Given the description of an element on the screen output the (x, y) to click on. 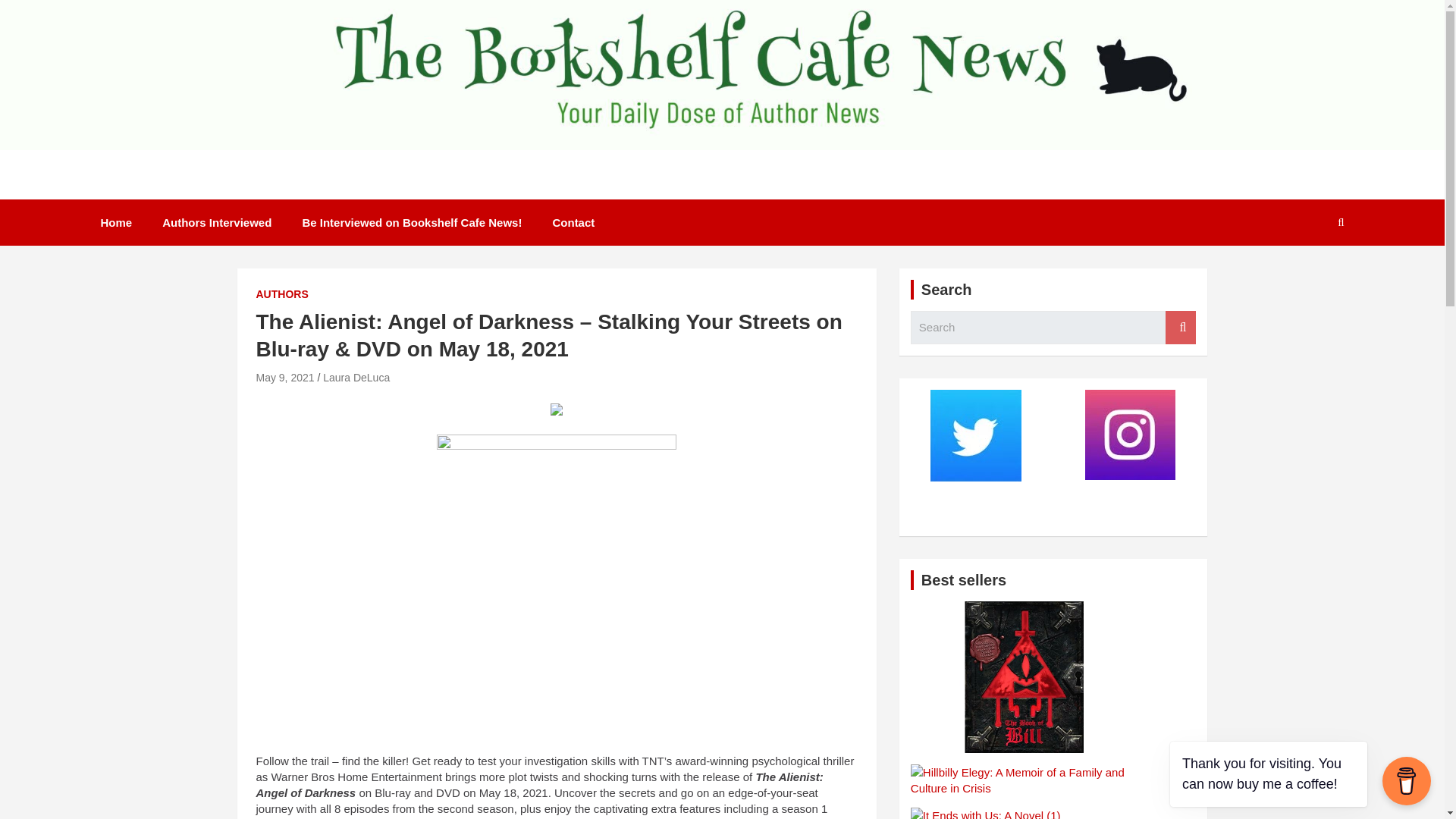
Authors Interviewed (216, 222)
Laura DeLuca (356, 377)
Contact (573, 222)
Home (115, 222)
AUTHORS (282, 294)
May 9, 2021 (285, 377)
Be Interviewed on Bookshelf Cafe News! (411, 222)
The Bookshelf Cafe News (269, 192)
